Given the description of an element on the screen output the (x, y) to click on. 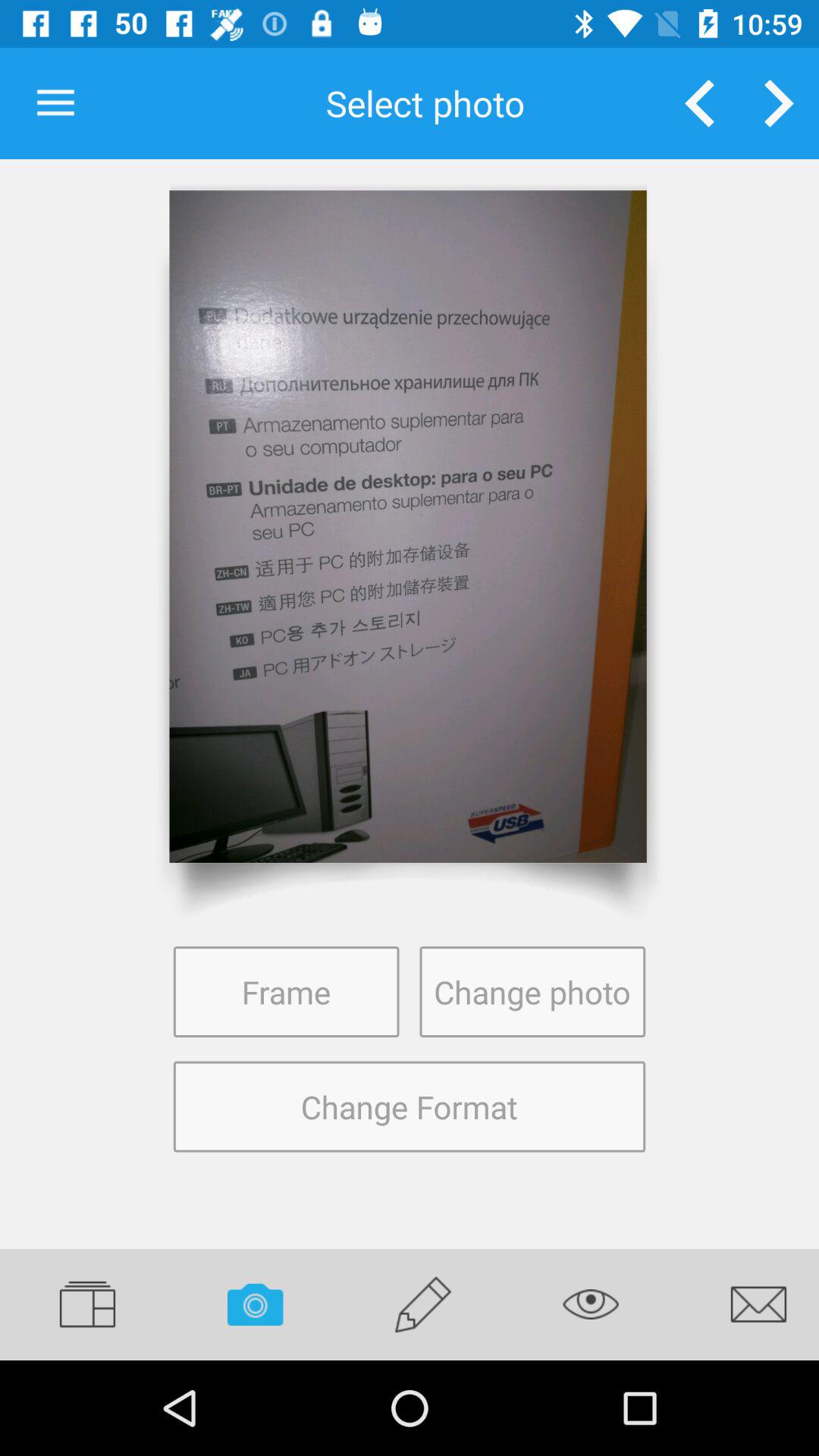
open previous photo (699, 103)
